Given the description of an element on the screen output the (x, y) to click on. 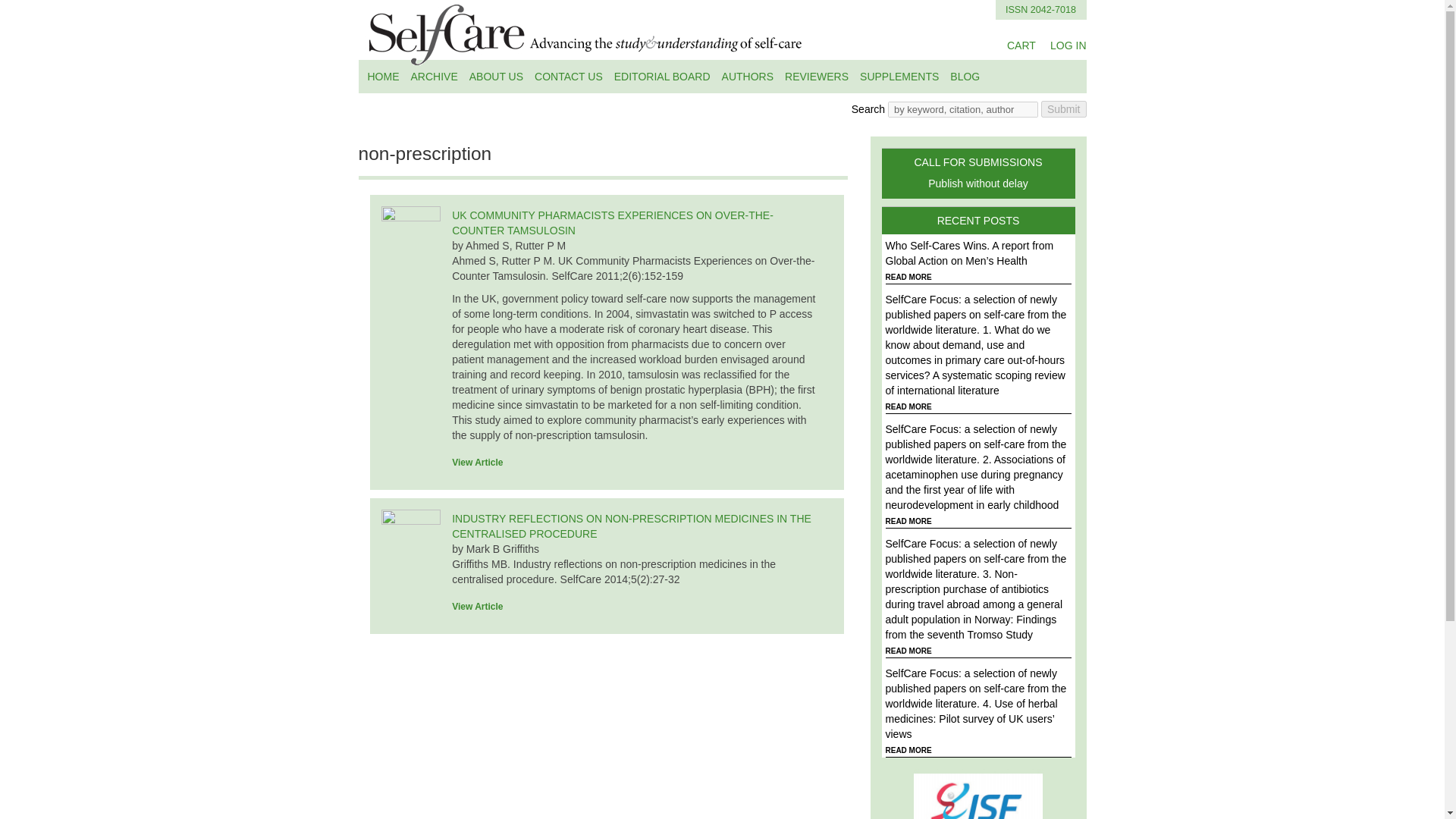
HOME (383, 76)
LOG IN (1067, 45)
REVIEWERS (977, 173)
ABOUT US (815, 76)
BLOG (496, 76)
View Article (964, 76)
Submit (482, 606)
CART (1063, 108)
READ MORE (1021, 45)
